Given the description of an element on the screen output the (x, y) to click on. 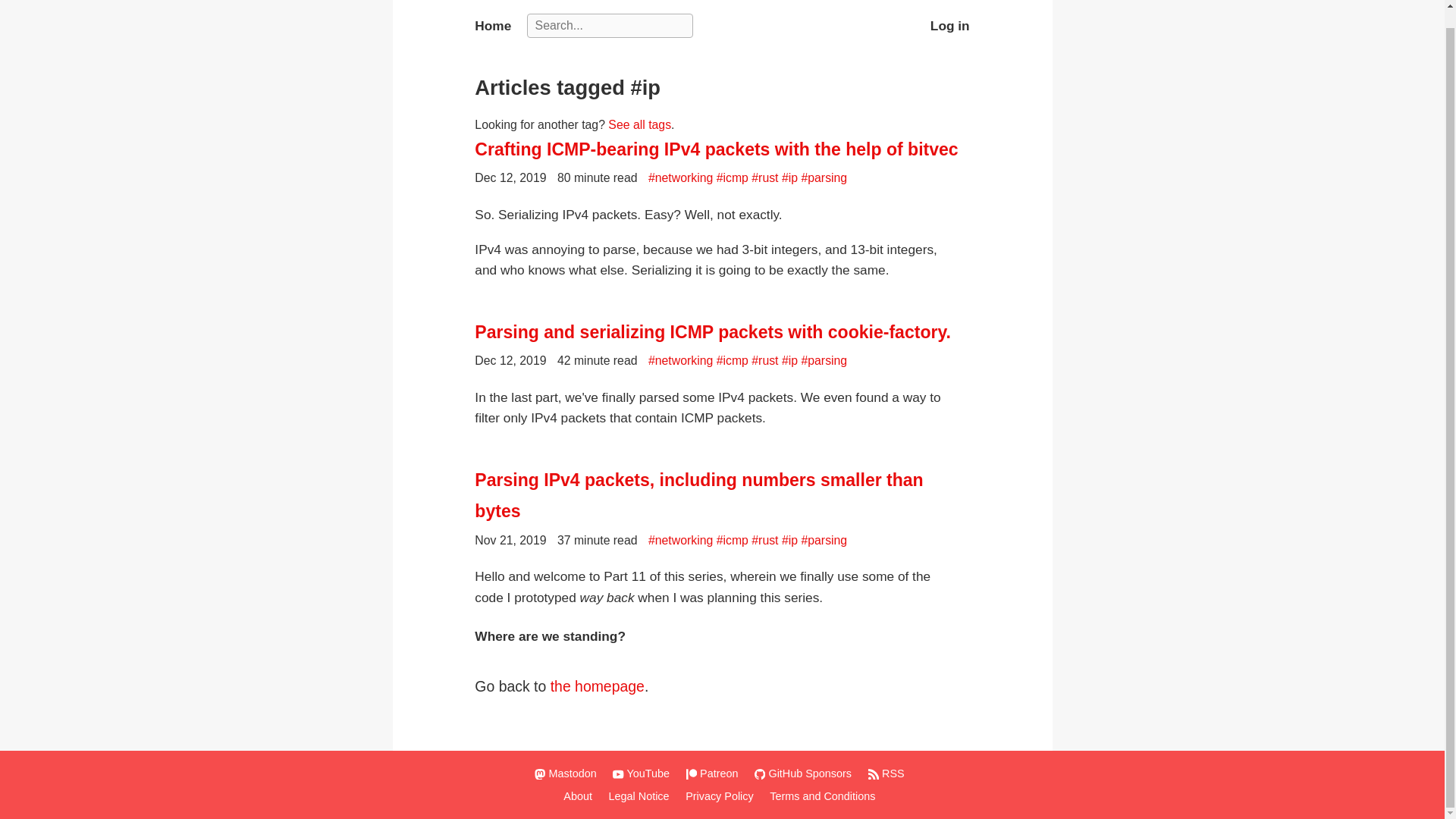
YouTube (643, 773)
Legal Notice (641, 796)
See all tags (639, 124)
Home (492, 25)
Parsing and serializing ICMP packets with cookie-factory. (721, 332)
Log in (949, 25)
the homepage (597, 686)
Terms and Conditions (825, 796)
About (579, 796)
Crafting ICMP-bearing IPv4 packets with the help of bitvec (721, 149)
